Given the description of an element on the screen output the (x, y) to click on. 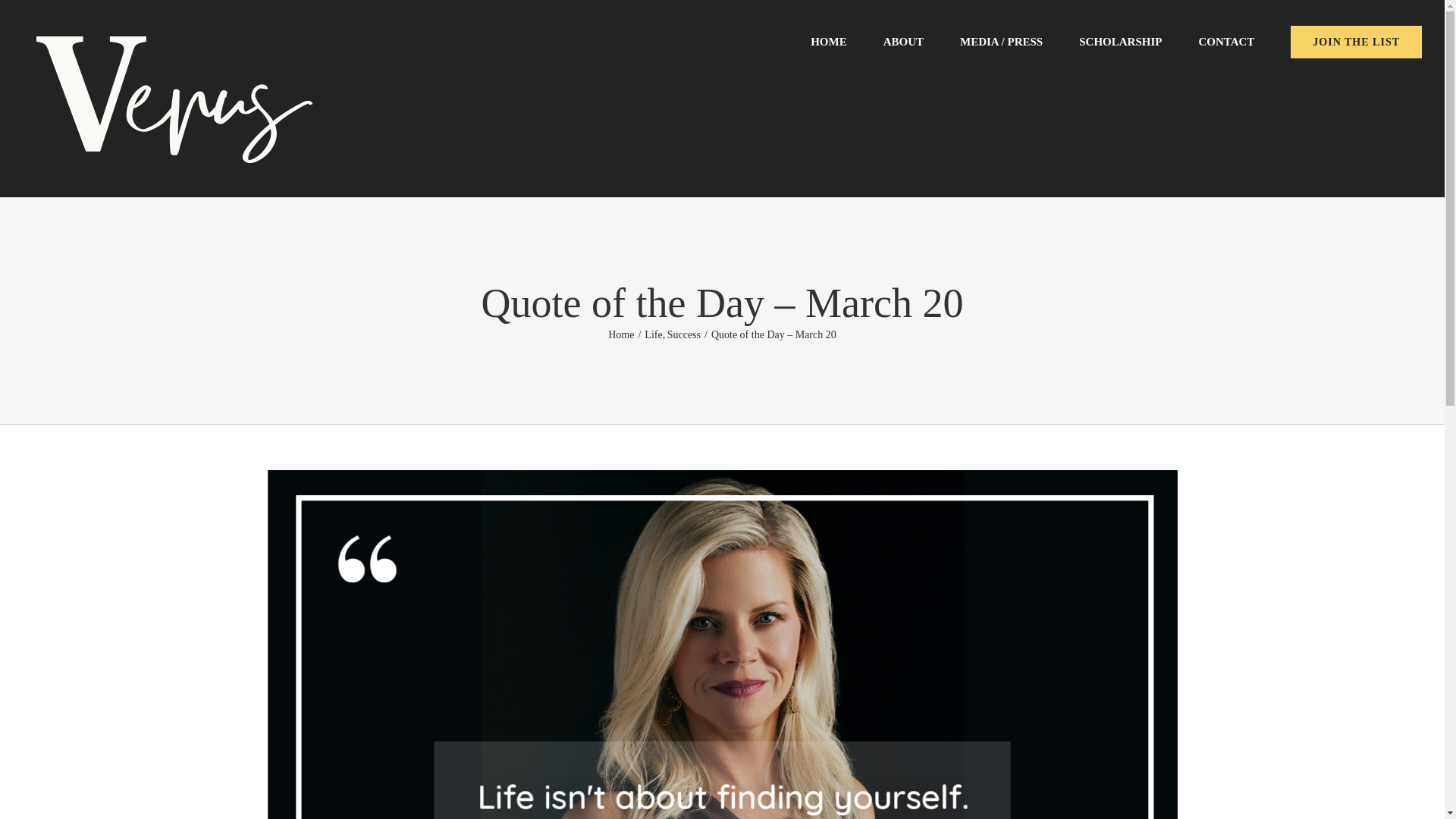
Life (653, 334)
Home (620, 334)
SCHOLARSHIP (1119, 40)
JOIN THE LIST (1356, 40)
